Given the description of an element on the screen output the (x, y) to click on. 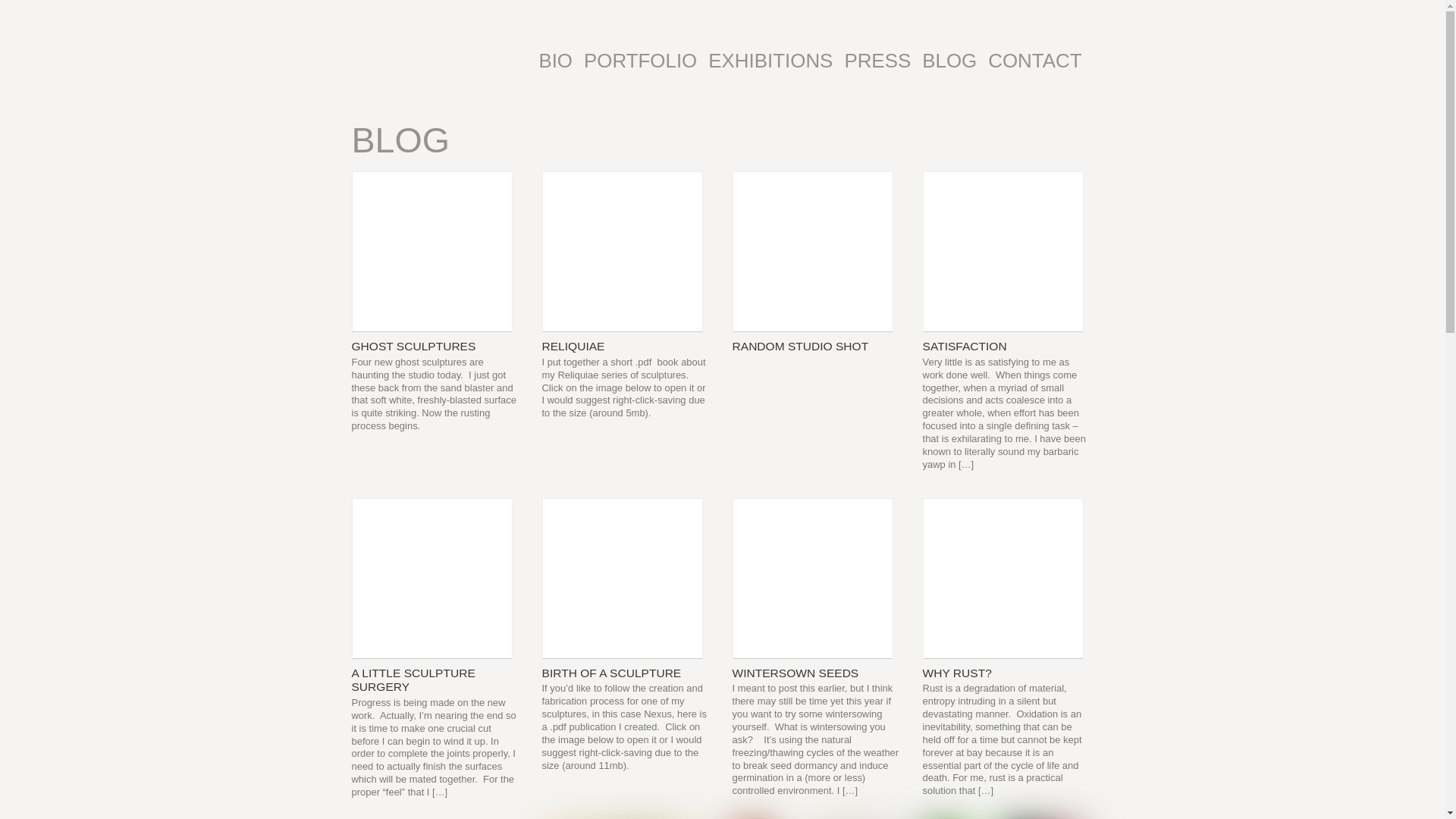
BLOG (948, 60)
PORTFOLIO (640, 60)
SATISFACTION (965, 345)
studio-shot (812, 251)
reliquiae-title-page (622, 251)
RANDOM STUDIO SHOT (800, 345)
Sculptor Sam Spiczka (457, 59)
PRESS (877, 60)
A LITTLE SCULPTURE SURGERY (414, 679)
ghost-sculptures-smaller (432, 251)
